Given the description of an element on the screen output the (x, y) to click on. 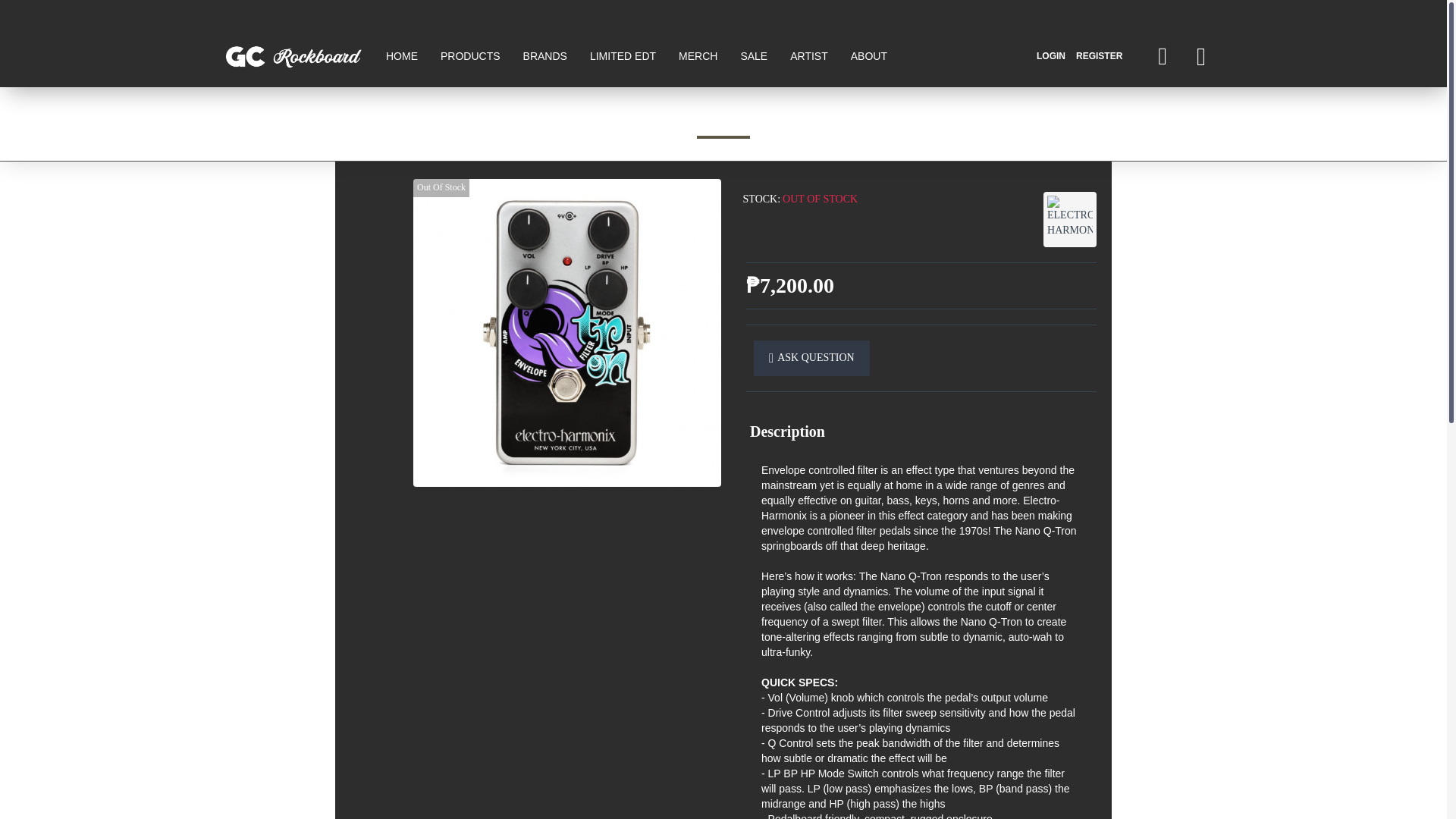
Electro-Harmonix Nano Q-Tron Envelope Controlled Filter (566, 332)
PRODUCTS (470, 56)
HOME (401, 56)
GC Rockboard (293, 56)
